Given the description of an element on the screen output the (x, y) to click on. 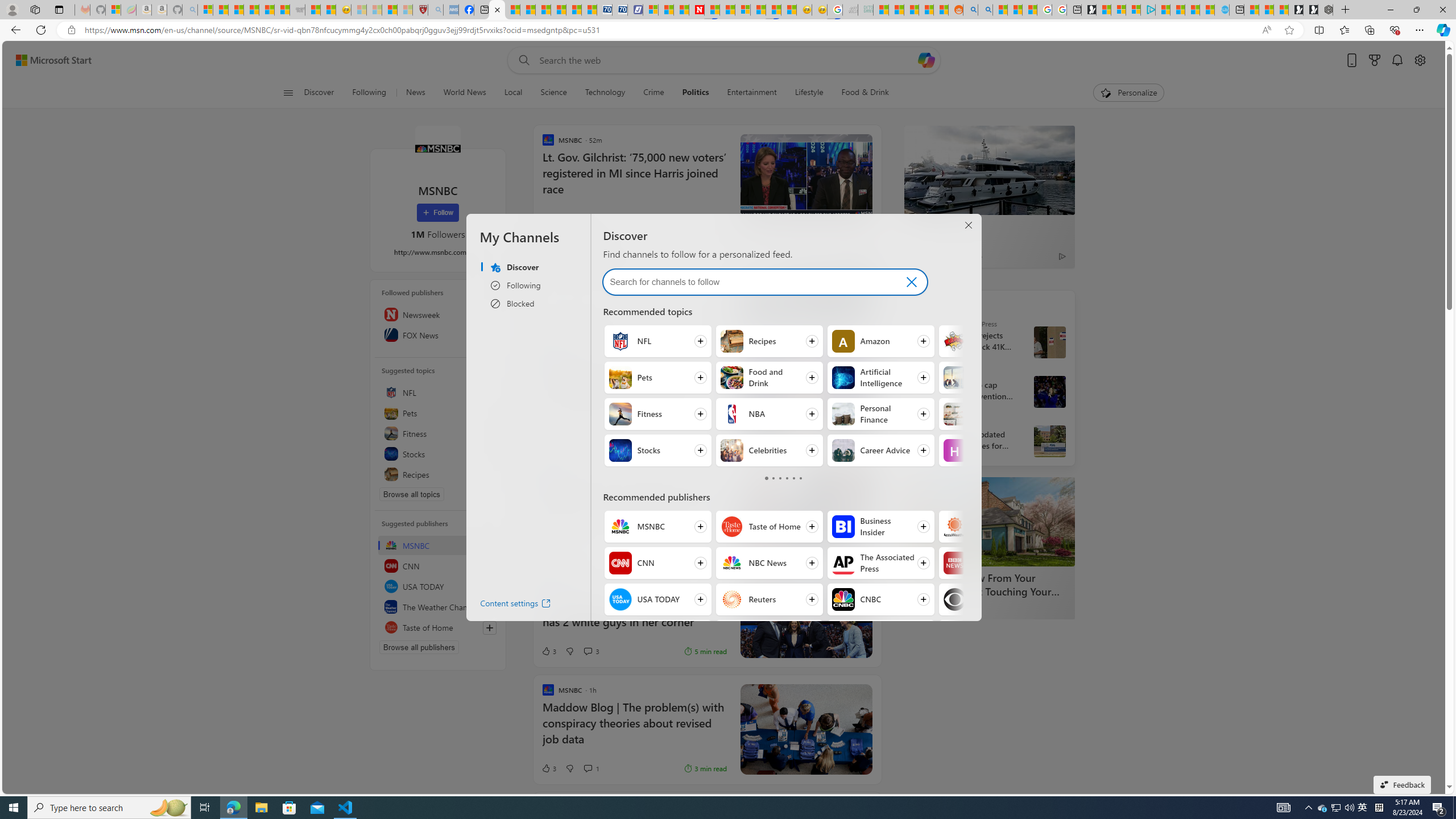
Follow Business (992, 377)
Follow Fitness (657, 413)
Stocks - MSN (281, 9)
Artificial Intelligence (842, 377)
MSN (773, 9)
Technology (604, 92)
Entertainment (751, 92)
CBS News (954, 599)
